Given the description of an element on the screen output the (x, y) to click on. 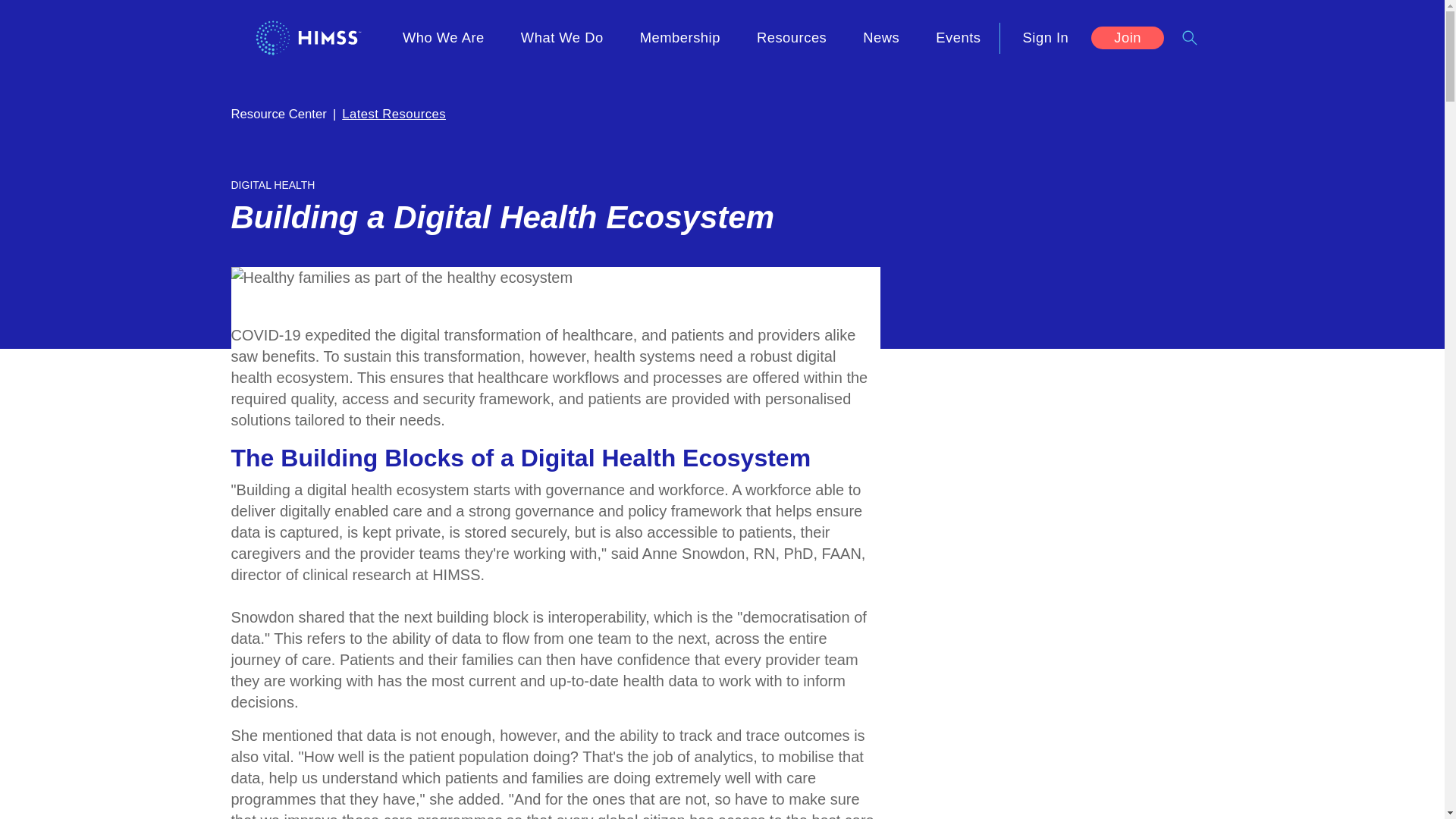
Who We Are (443, 38)
Membership (679, 38)
Healthy families as part of the healthy ecosystem (401, 277)
Himss.org (308, 37)
What We Do (562, 38)
Resources (791, 38)
